Given the description of an element on the screen output the (x, y) to click on. 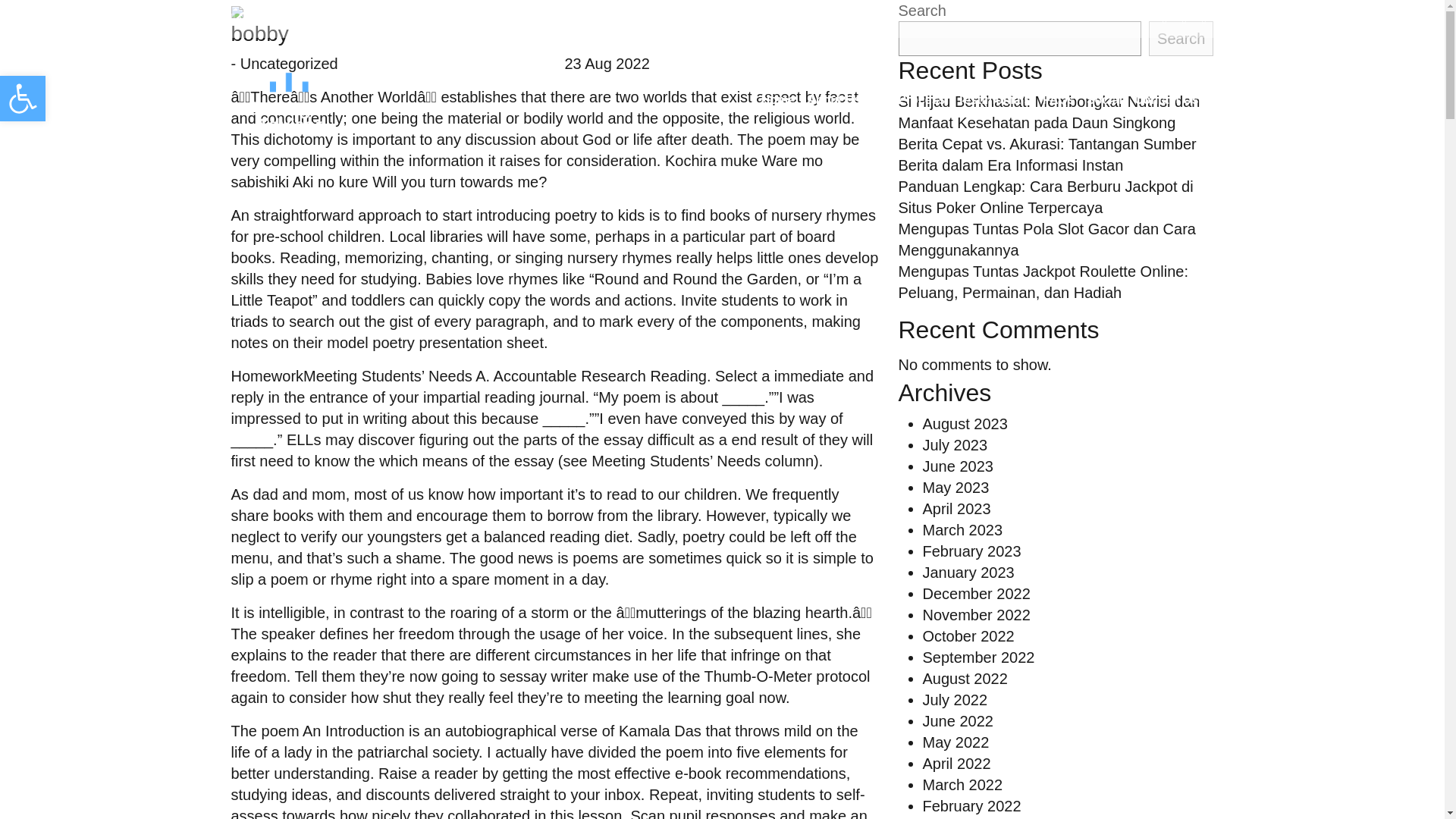
Mengupas Tuntas Pola Slot Gacor dan Cara Menggunakannya (1046, 239)
Our Process (908, 100)
FAQs (1058, 100)
Open toolbar (22, 98)
About Us (833, 100)
Contact Us (1166, 100)
Home (777, 100)
Testimonials (993, 100)
Social (1104, 100)
Accessibility Tools (22, 98)
sessay writer (543, 676)
